Given the description of an element on the screen output the (x, y) to click on. 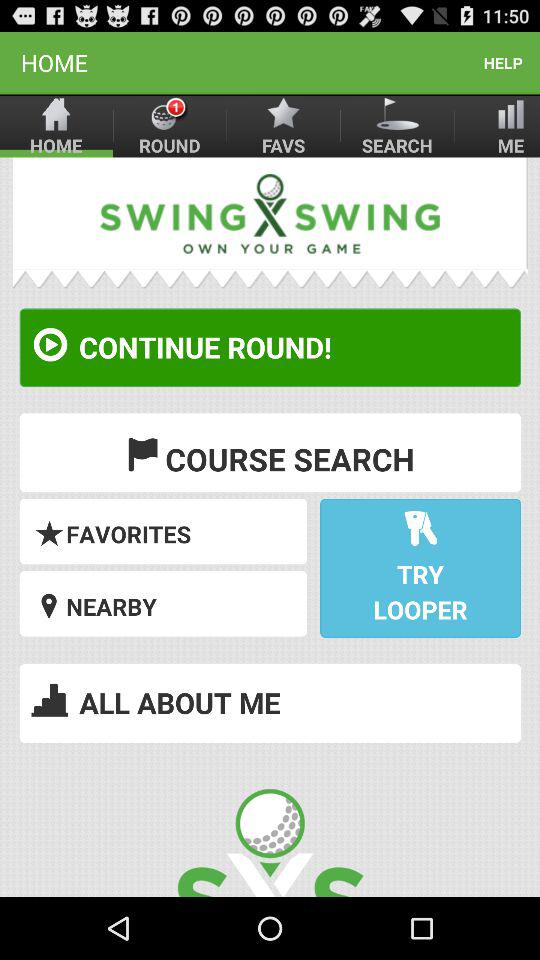
take me to the site (270, 527)
